Given the description of an element on the screen output the (x, y) to click on. 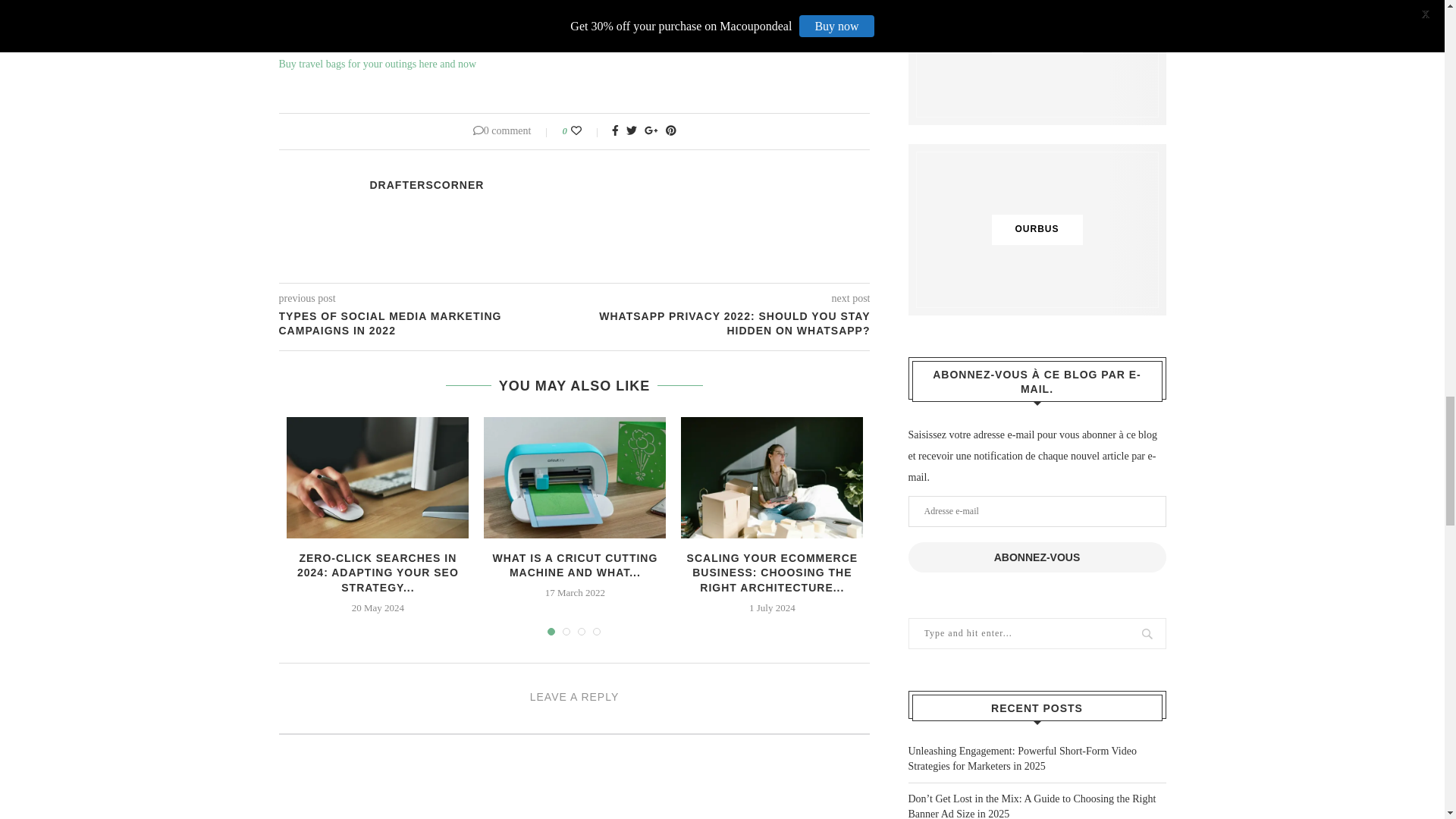
Like (586, 131)
